Given the description of an element on the screen output the (x, y) to click on. 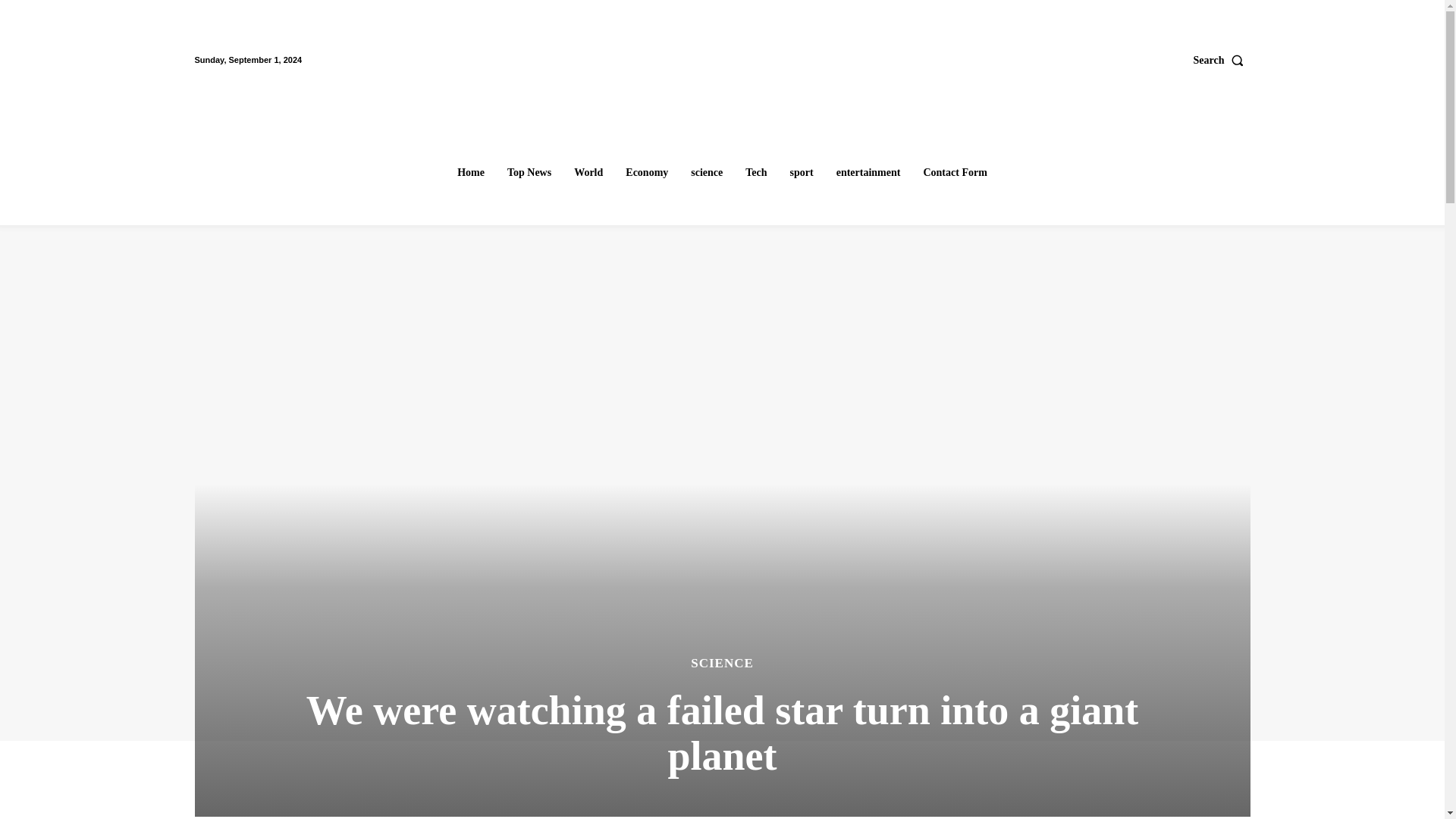
entertainment (868, 173)
World (588, 173)
Home (470, 173)
Economy (646, 173)
sport (802, 173)
Search (1221, 60)
Top News (529, 173)
Tech (756, 173)
science (706, 173)
Contact Form (954, 173)
